Given the description of an element on the screen output the (x, y) to click on. 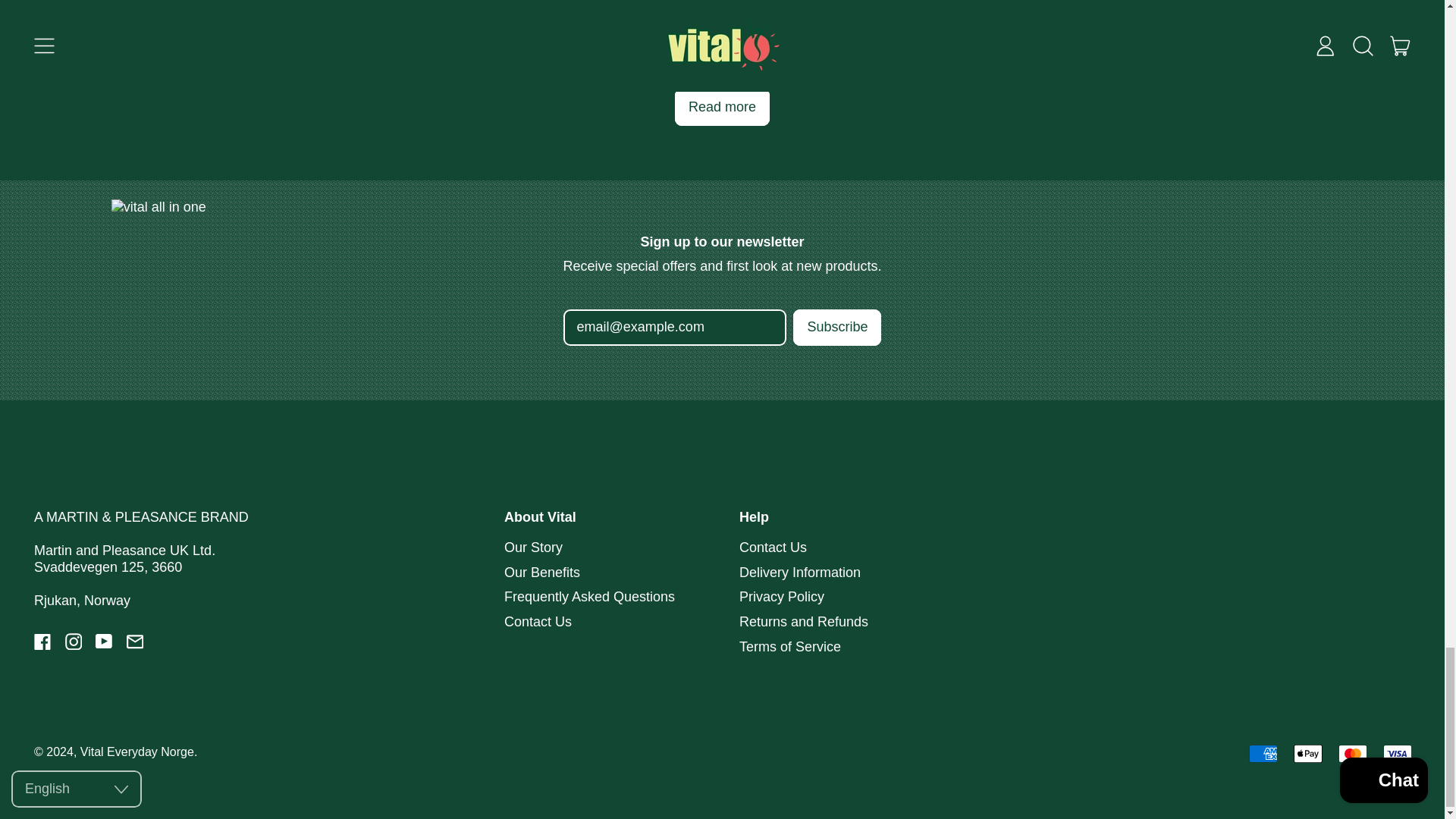
Our Story (532, 547)
Frequently Asked Questions (589, 596)
YouTube (104, 645)
Subscribe (836, 327)
Vital Everyday Norge (136, 751)
Terms of Service (790, 646)
Delivery Information (799, 572)
Instagram (73, 645)
Contact Us (537, 621)
Read more (722, 107)
